Given the description of an element on the screen output the (x, y) to click on. 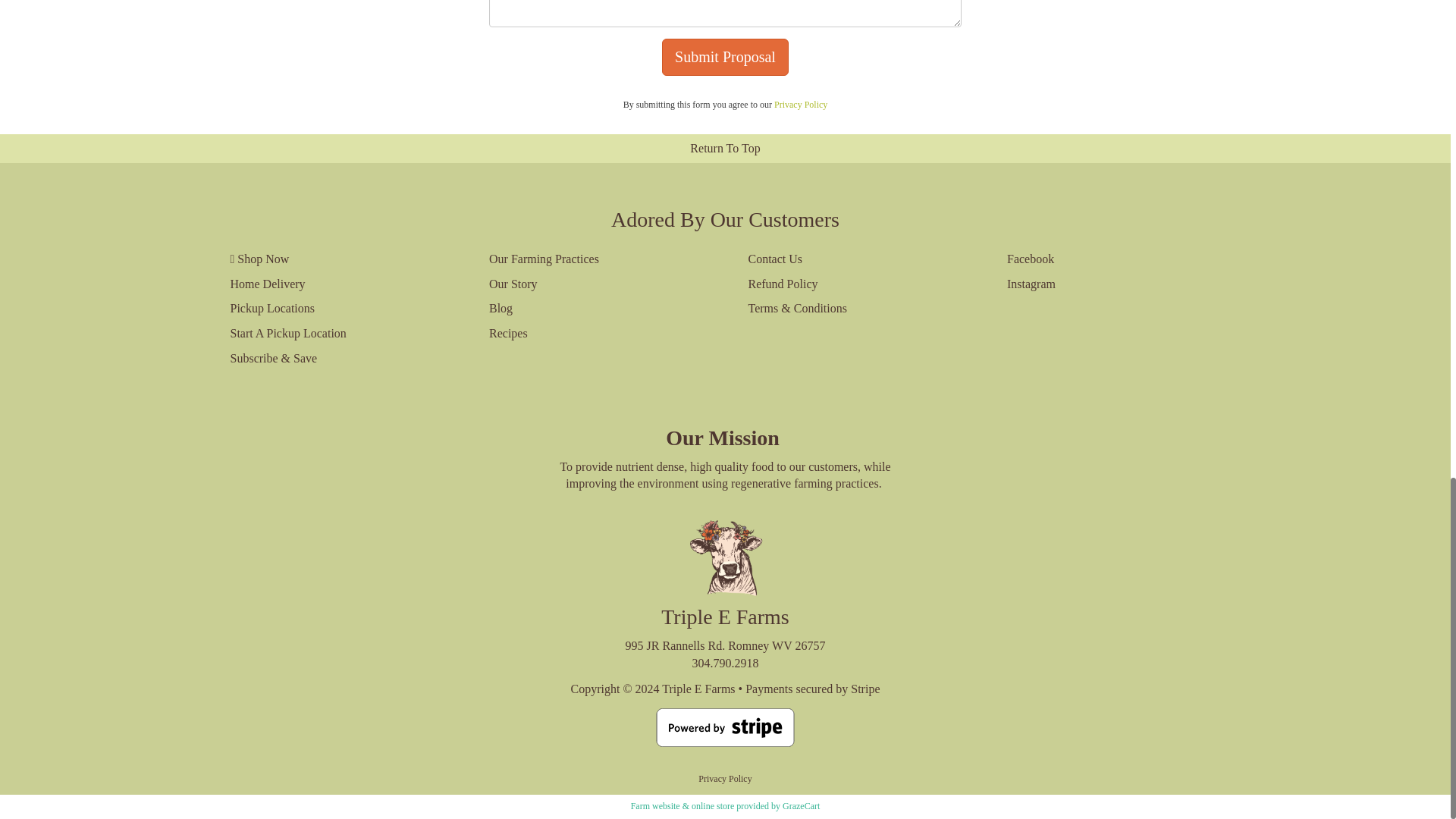
Pickup Locations (337, 308)
Privacy Policy (800, 104)
Triple E Farms (698, 688)
Start A Pickup Location (337, 333)
Recipes (596, 333)
Privacy Policy (724, 778)
Home Delivery (337, 283)
Facebook (1114, 259)
Blog (596, 308)
Return To Top (724, 148)
